Given the description of an element on the screen output the (x, y) to click on. 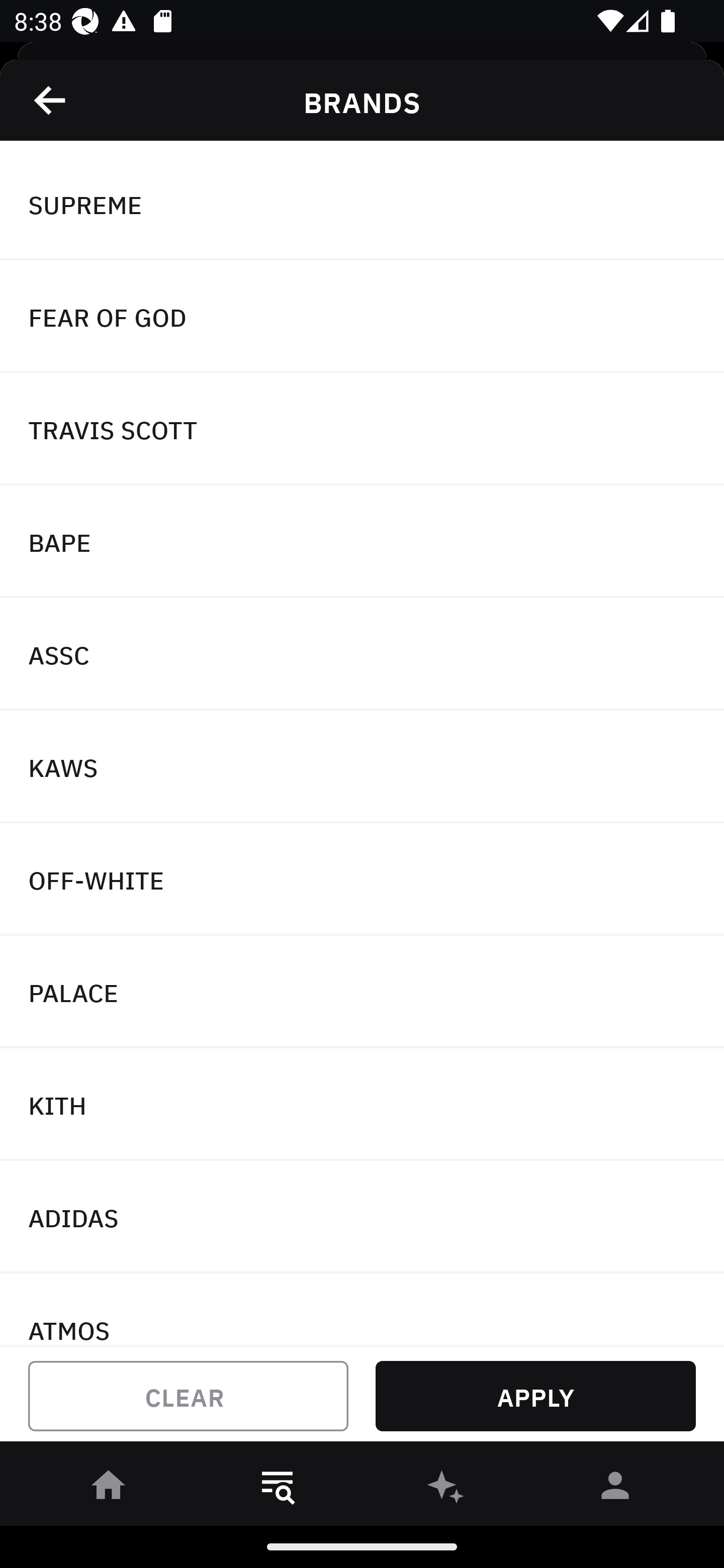
 (50, 100)
SUPREME (362, 203)
FEAR OF GOD (362, 316)
TRAVIS SCOTT (362, 429)
BAPE (362, 541)
ASSC (362, 653)
KAWS (362, 766)
OFF-WHITE (362, 879)
PALACE (362, 992)
KITH (362, 1104)
ADIDAS (362, 1216)
ATMOS (362, 1309)
CLEAR  (188, 1396)
APPLY (535, 1396)
󰋜 (108, 1488)
󱎸 (277, 1488)
󰫢 (446, 1488)
󰀄 (615, 1488)
